Given the description of an element on the screen output the (x, y) to click on. 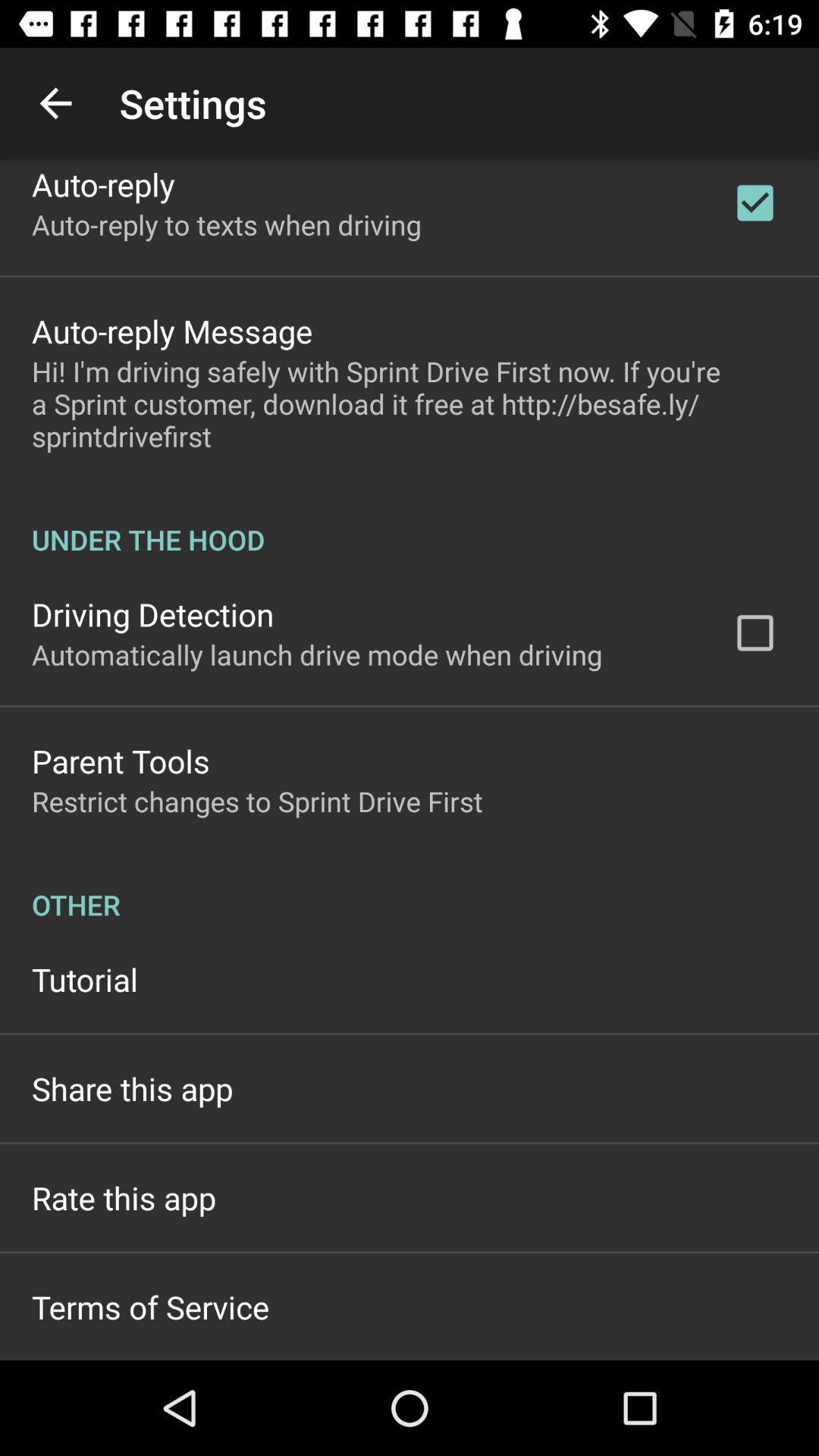
choose the app below automatically launch drive (120, 760)
